Given the description of an element on the screen output the (x, y) to click on. 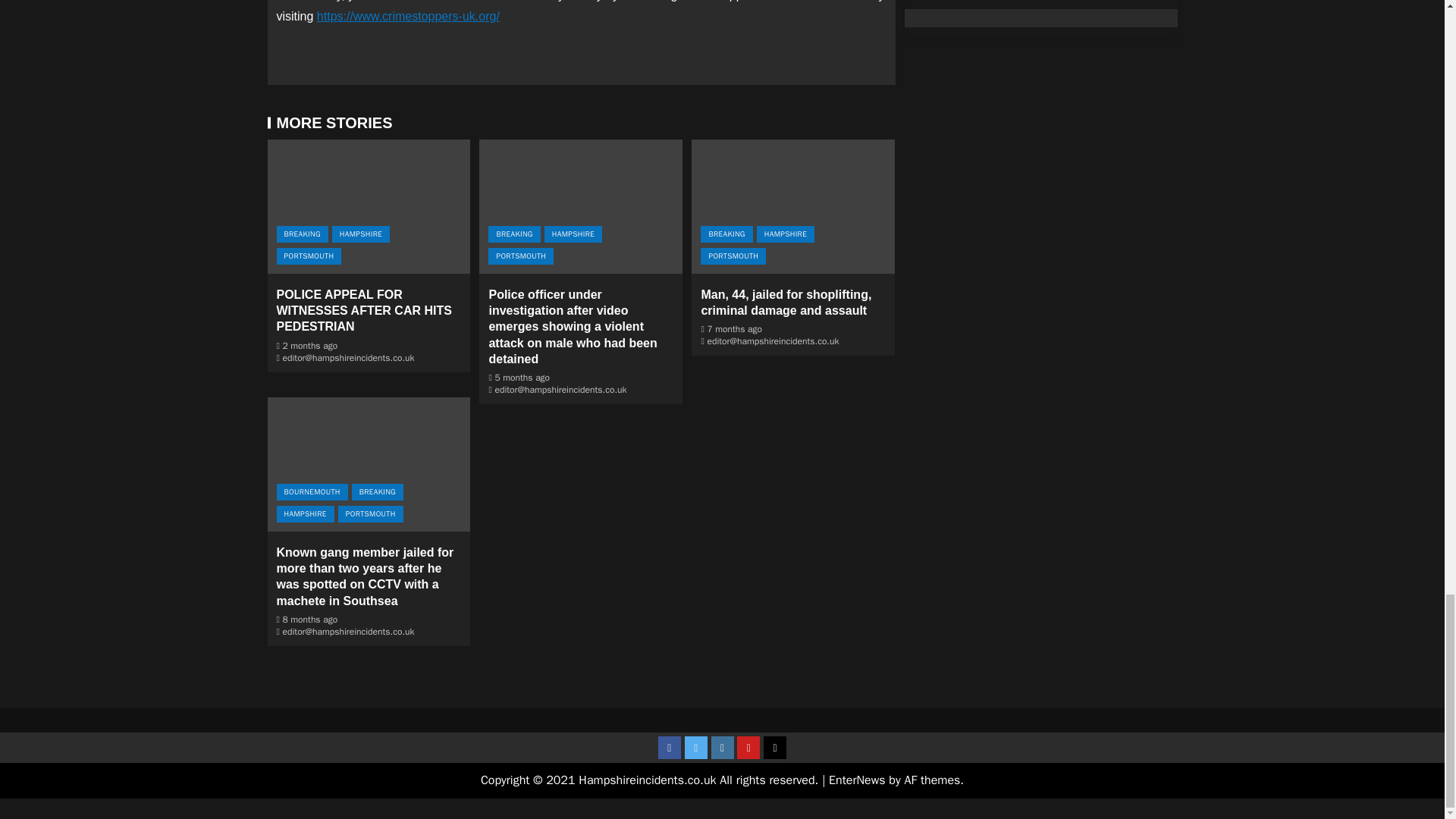
HAMPSHIRE (360, 234)
BREAKING (301, 234)
PORTSMOUTH (308, 256)
POLICE APPEAL FOR WITNESSES AFTER CAR HITS PEDESTRIAN (363, 310)
BREAKING (513, 234)
